Given the description of an element on the screen output the (x, y) to click on. 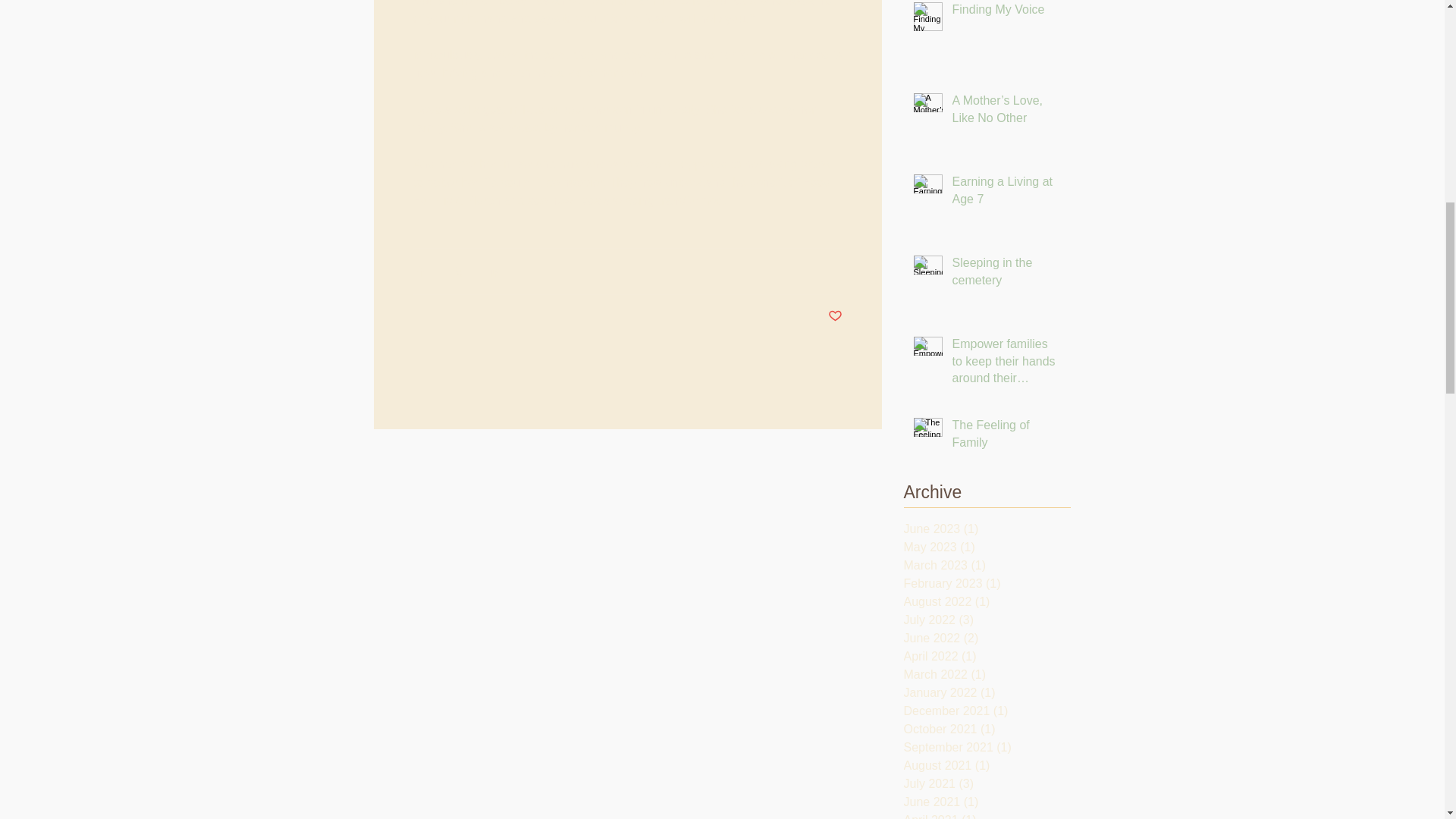
The Feeling of Family (1006, 436)
Finding My Voice (1006, 12)
Sleeping in the cemetery (1006, 274)
Earning a Living at Age 7 (1006, 193)
Post not marked as liked (835, 316)
Empower families to keep their hands around their children (1006, 364)
